Given the description of an element on the screen output the (x, y) to click on. 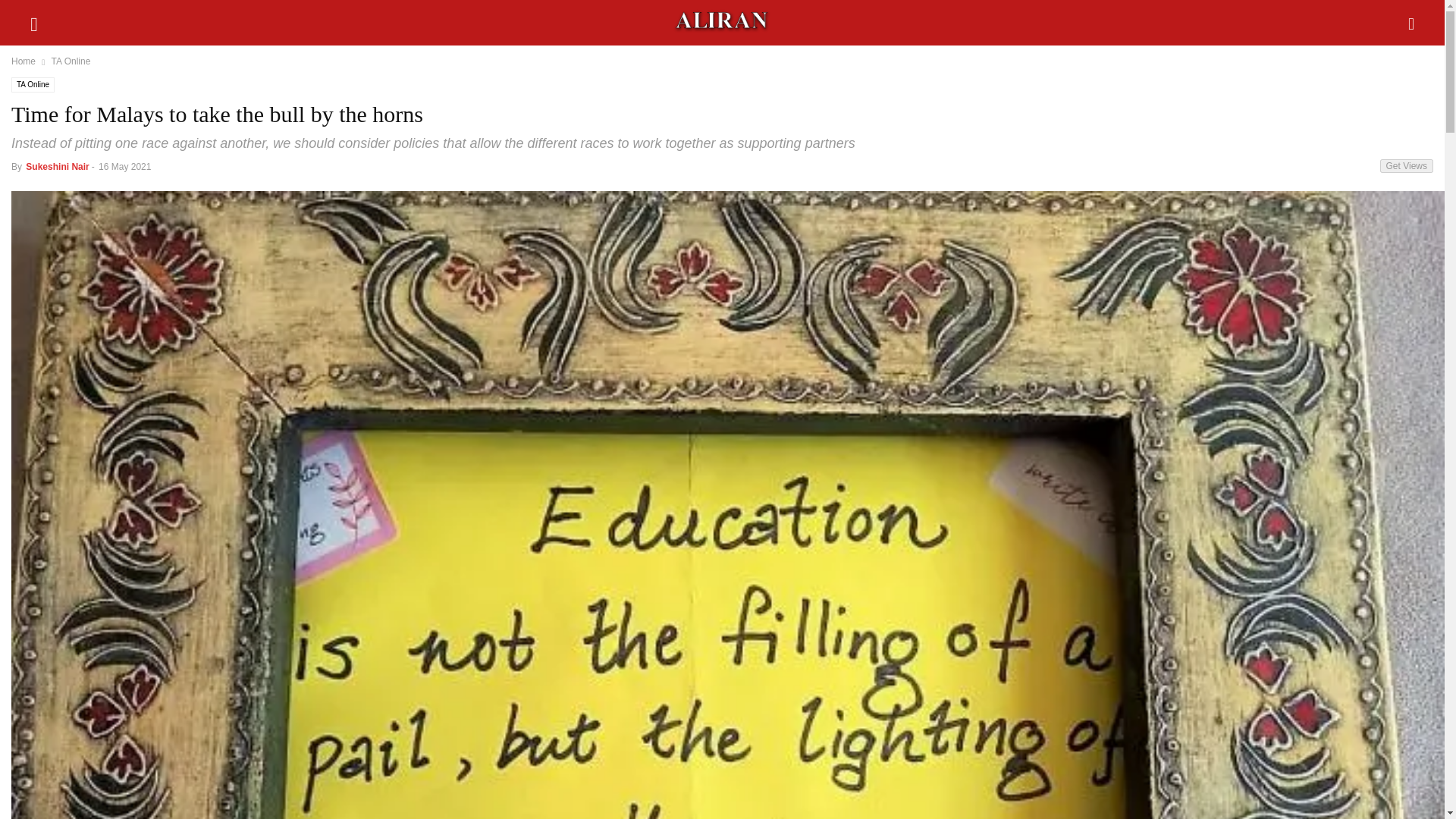
Search (45, 20)
TA Online (33, 84)
View all posts in TA Online (70, 61)
TA Online (70, 61)
Get Views (1406, 165)
Home (22, 61)
Sukeshini Nair (57, 166)
